Given the description of an element on the screen output the (x, y) to click on. 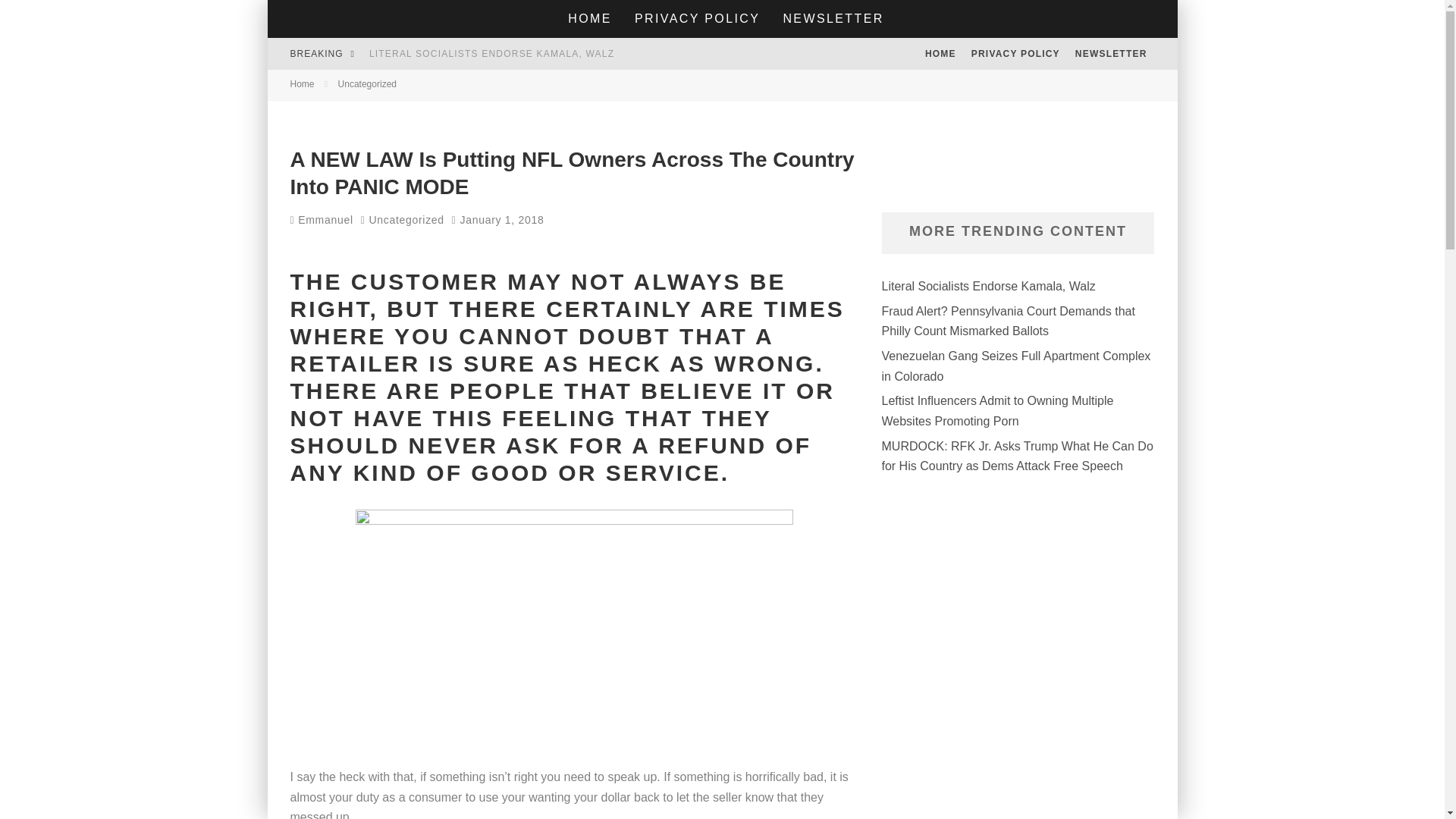
Literal Socialists Endorse Kamala, Walz (491, 53)
Literal Socialists Endorse Kamala, Walz (987, 286)
Uncategorized (406, 219)
LITERAL SOCIALISTS ENDORSE KAMALA, WALZ (491, 53)
Venezuelan Gang Seizes Full Apartment Complex in Colorado (1015, 366)
HOME (940, 53)
Uncategorized (366, 83)
PRIVACY POLICY (1015, 53)
NEWSLETTER (1110, 53)
